Given the description of an element on the screen output the (x, y) to click on. 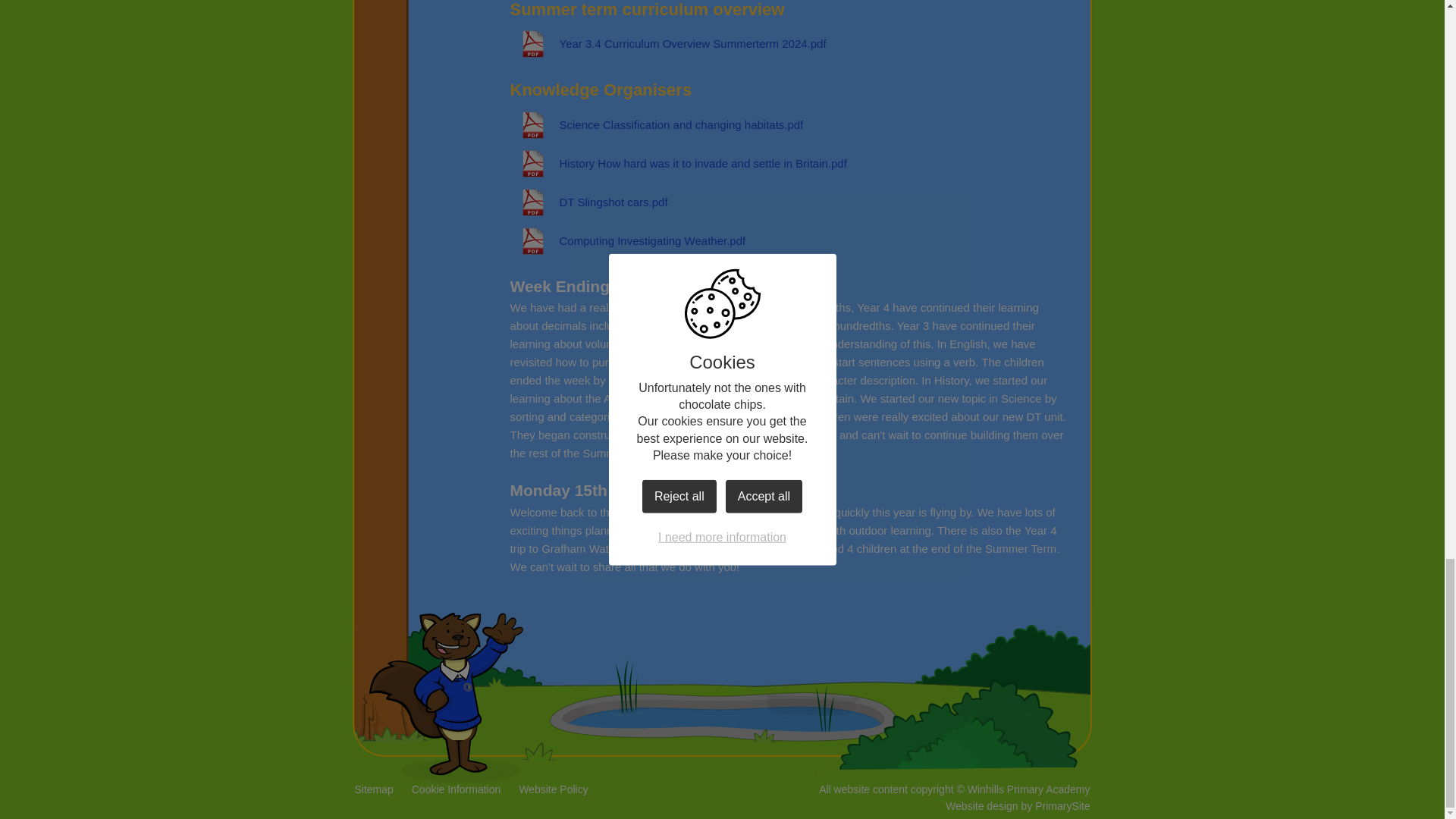
History How hard was it to invade and settle in Britain.pdf (677, 163)
Computing Investigating Weather.pdf (627, 240)
DT Slingshot cars.pdf (587, 202)
Science Classification and changing habitats.pdf (656, 124)
Year 3.4 Curriculum Overview Summerterm 2024.pdf (667, 43)
